Given the description of an element on the screen output the (x, y) to click on. 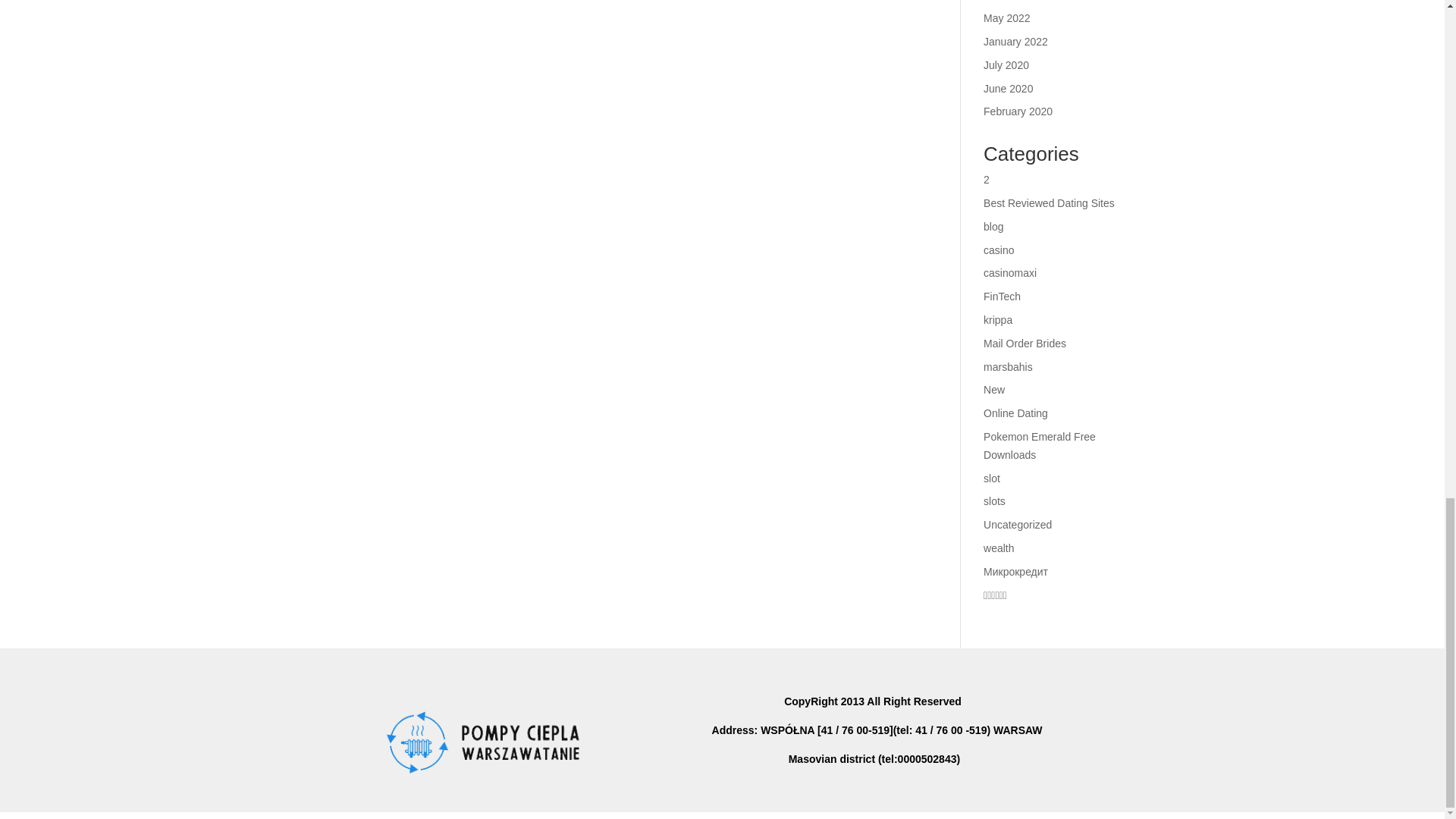
logo-removebg-preview-removebg-preview (494, 739)
